Given the description of an element on the screen output the (x, y) to click on. 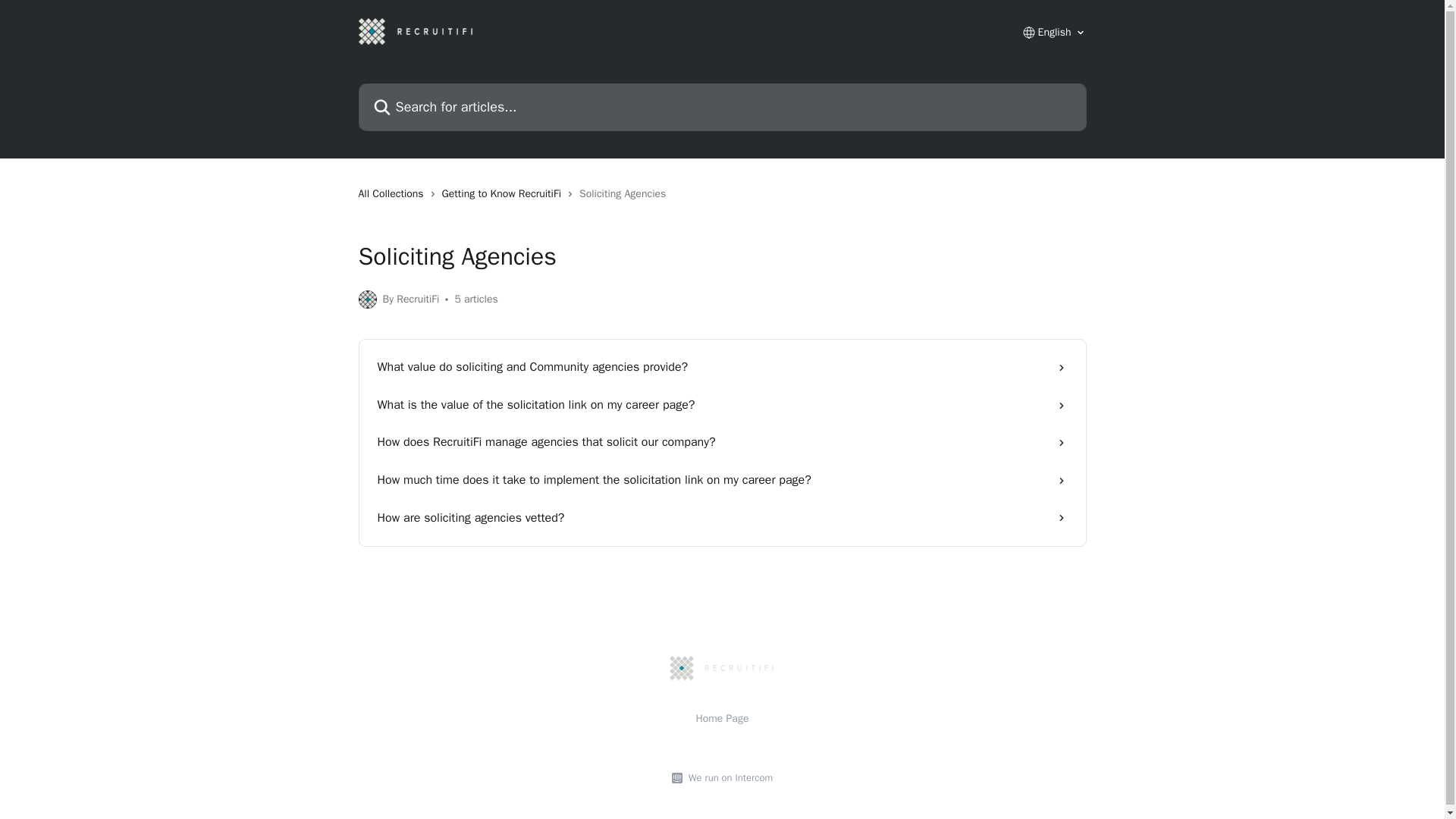
How are soliciting agencies vetted? (722, 518)
We run on Intercom (727, 778)
All Collections (393, 193)
Home Page (722, 717)
What value do soliciting and Community agencies provide? (722, 367)
Getting to Know RecruitiFi (504, 193)
